Given the description of an element on the screen output the (x, y) to click on. 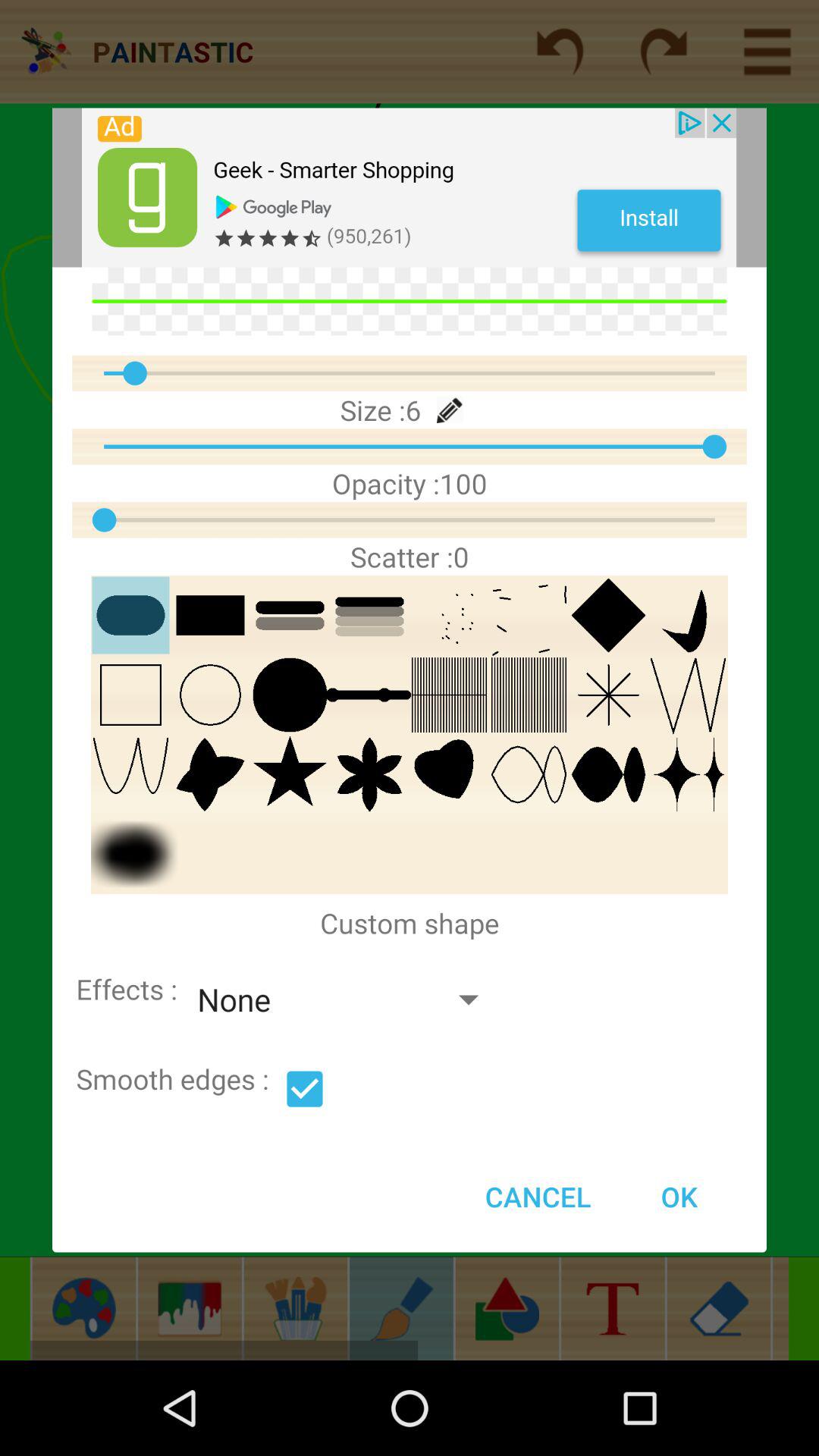
select option (304, 1089)
